Given the description of an element on the screen output the (x, y) to click on. 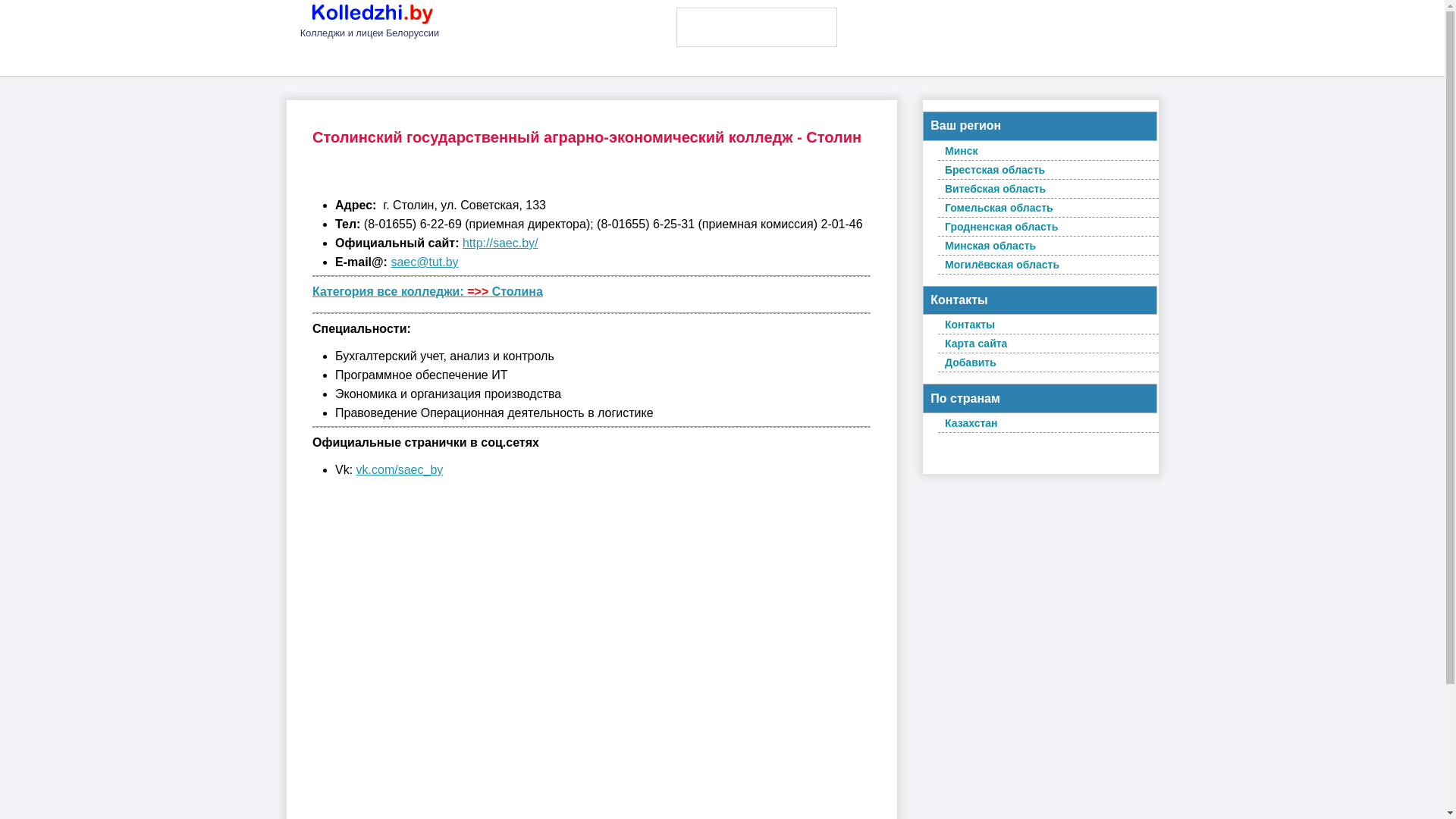
http://saec.by/ Element type: text (500, 242)
saec@tut.by Element type: text (424, 261)
vk.com/saec_by Element type: text (399, 469)
